Given the description of an element on the screen output the (x, y) to click on. 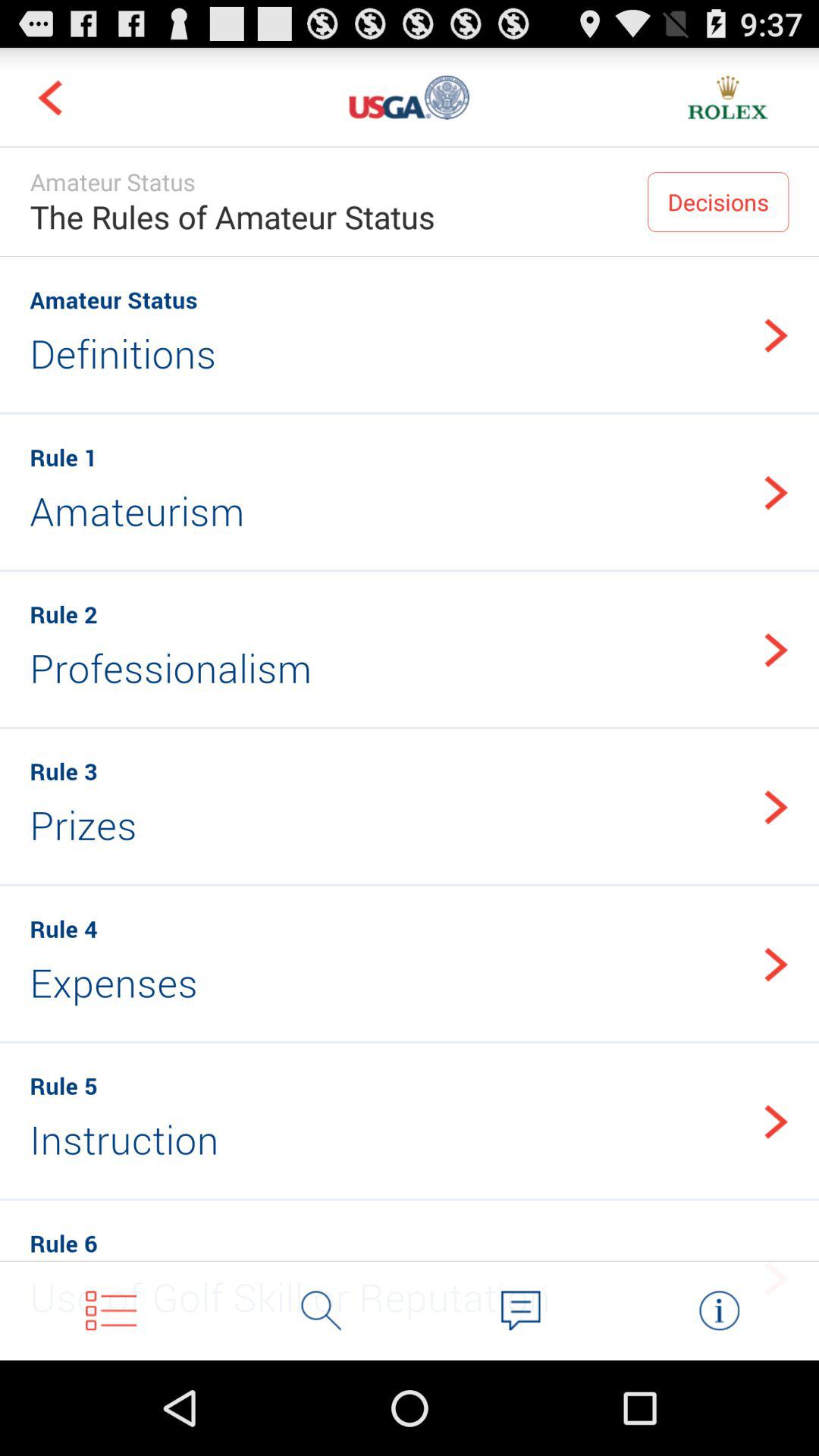
go back (49, 97)
